Given the description of an element on the screen output the (x, y) to click on. 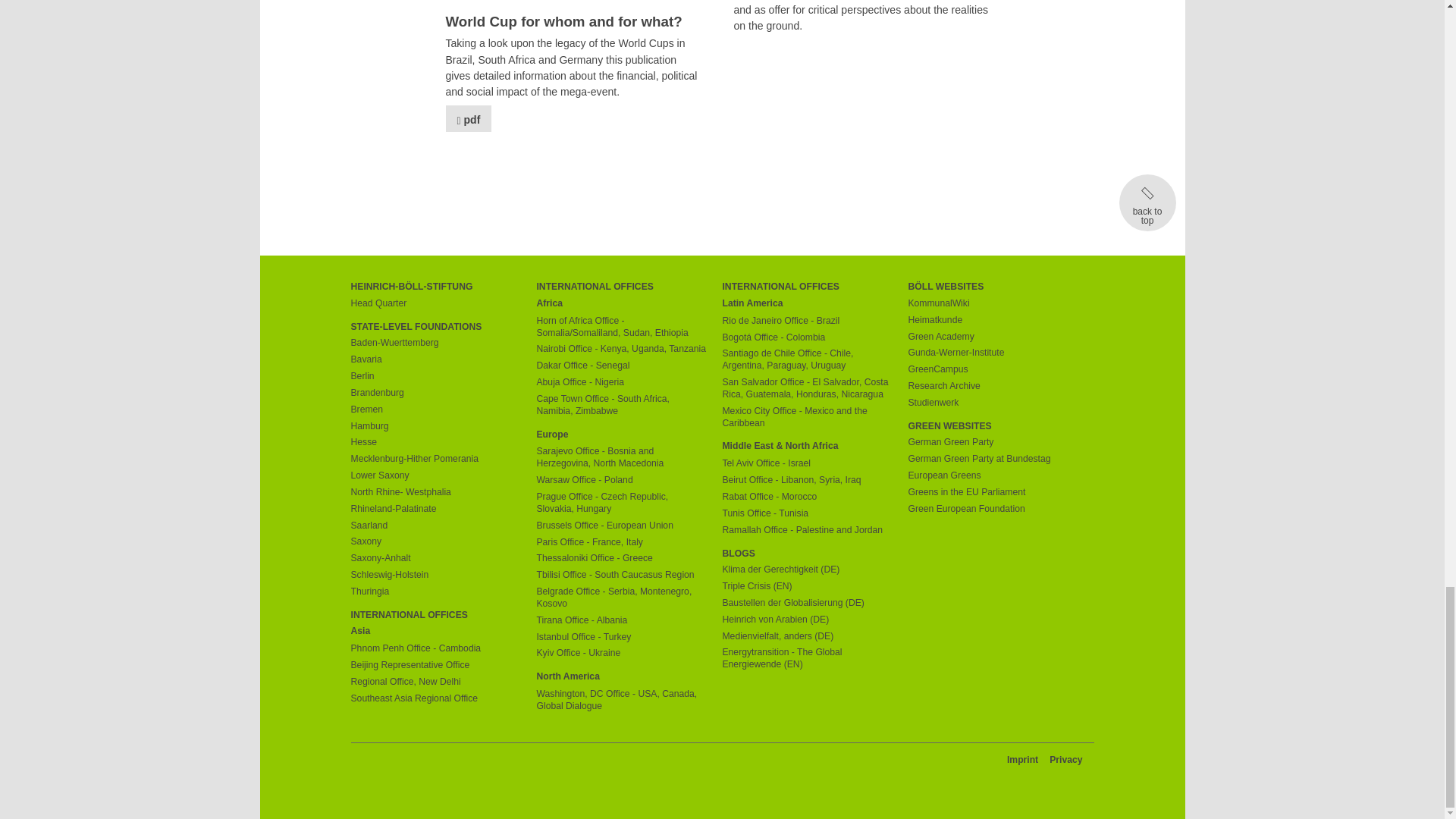
World Cup for whom and for what? (578, 22)
Brandenburg (435, 393)
Bavaria (435, 359)
Berlin (435, 377)
Baden-Wuerttemberg (435, 343)
Head Quarter (435, 304)
pdf (468, 118)
